Given the description of an element on the screen output the (x, y) to click on. 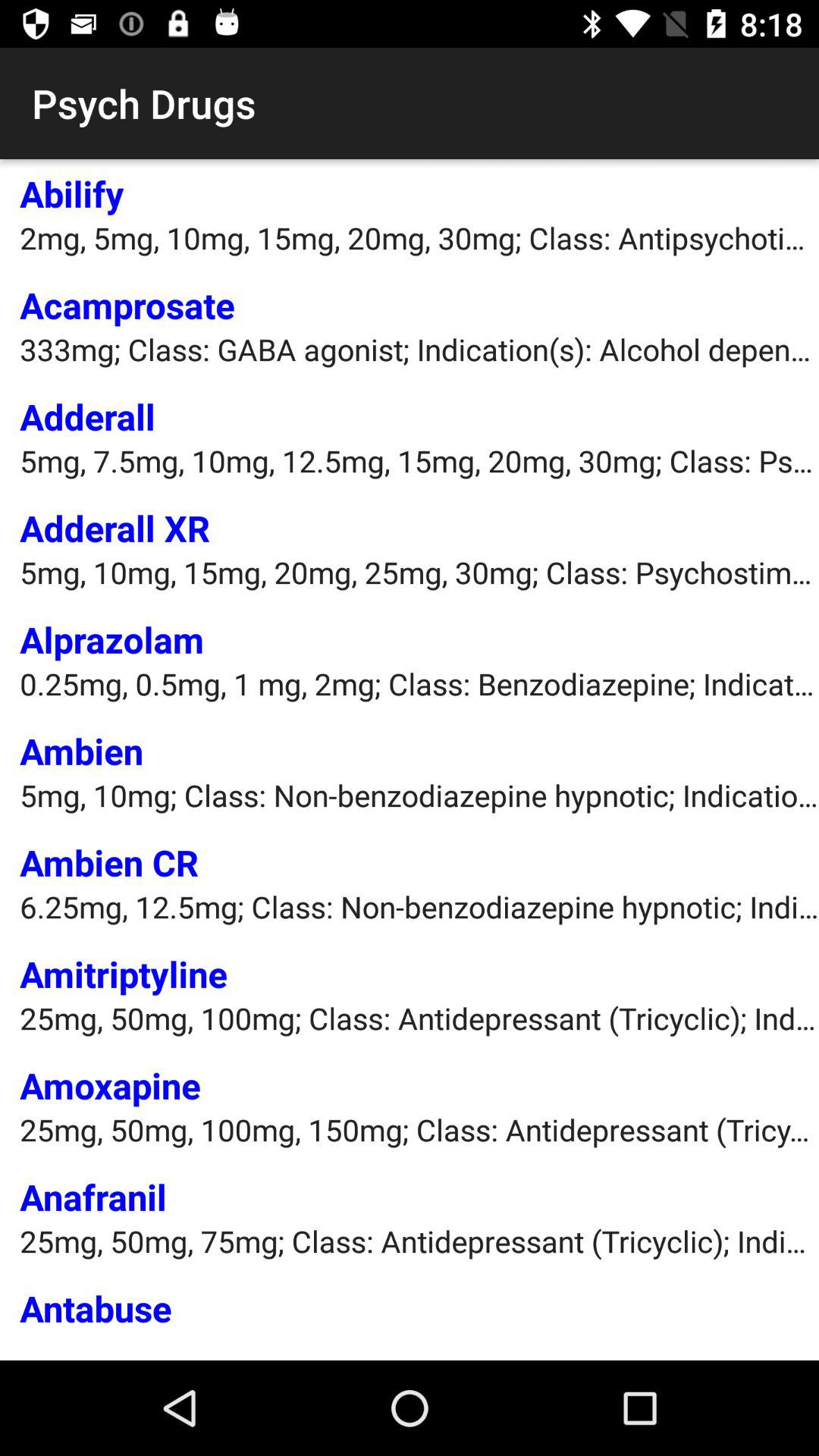
click item above the 25mg 50mg 100mg (123, 973)
